Given the description of an element on the screen output the (x, y) to click on. 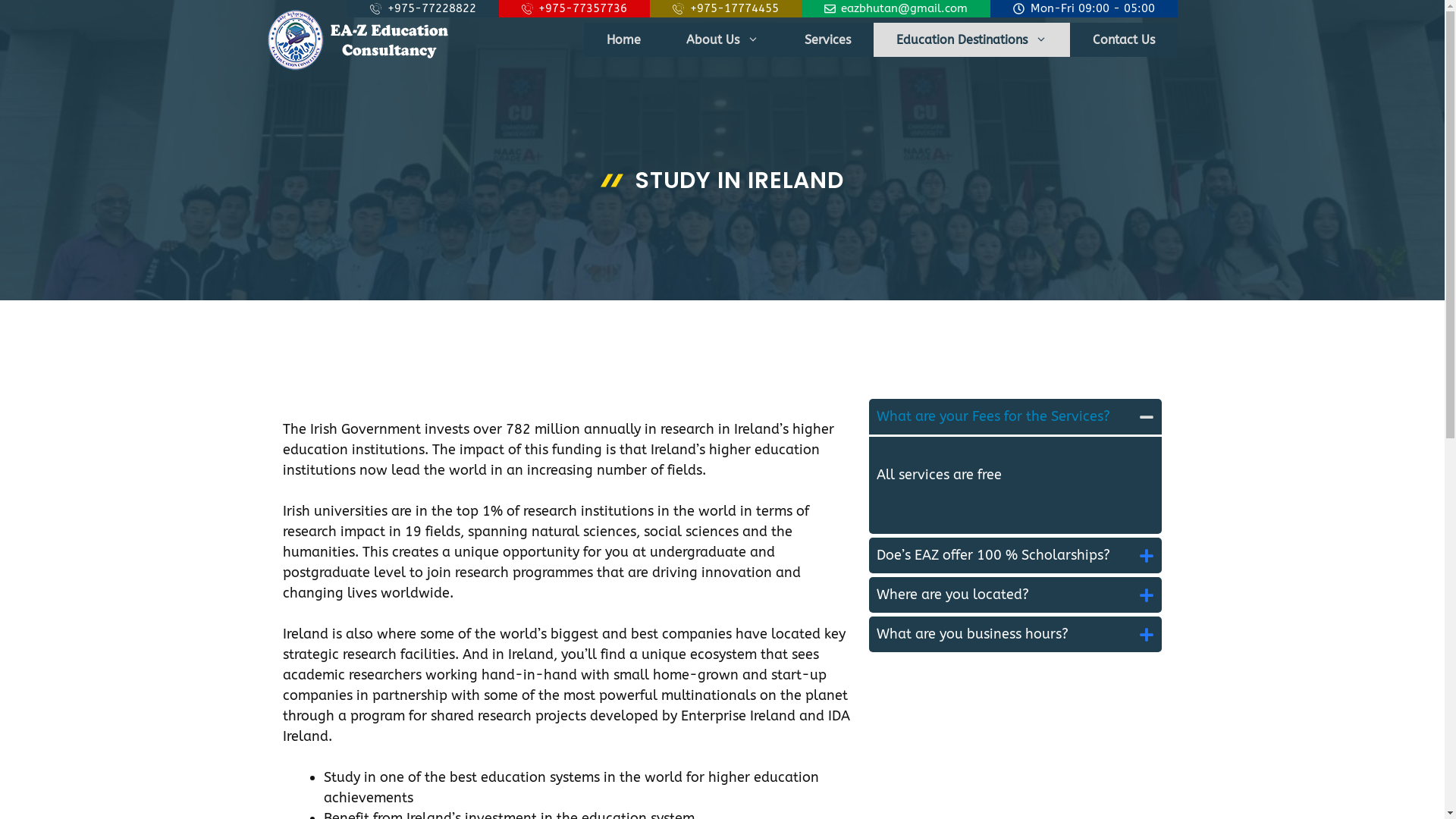
+975-77228822 Element type: text (422, 8)
Education Destinations Element type: text (971, 39)
EA-Z Education Consultancy Element type: hover (361, 38)
Mon-Fri 09:00 - 05:00 Element type: text (1083, 8)
eazbhutan@gmail.com Element type: text (895, 8)
EA-Z Education Consultancy Element type: hover (361, 39)
+975-77357736 Element type: text (574, 8)
Home Element type: text (623, 39)
+975-17774455 Element type: text (725, 8)
About Us Element type: text (721, 39)
Services Element type: text (826, 39)
Contact Us Element type: text (1122, 39)
